Given the description of an element on the screen output the (x, y) to click on. 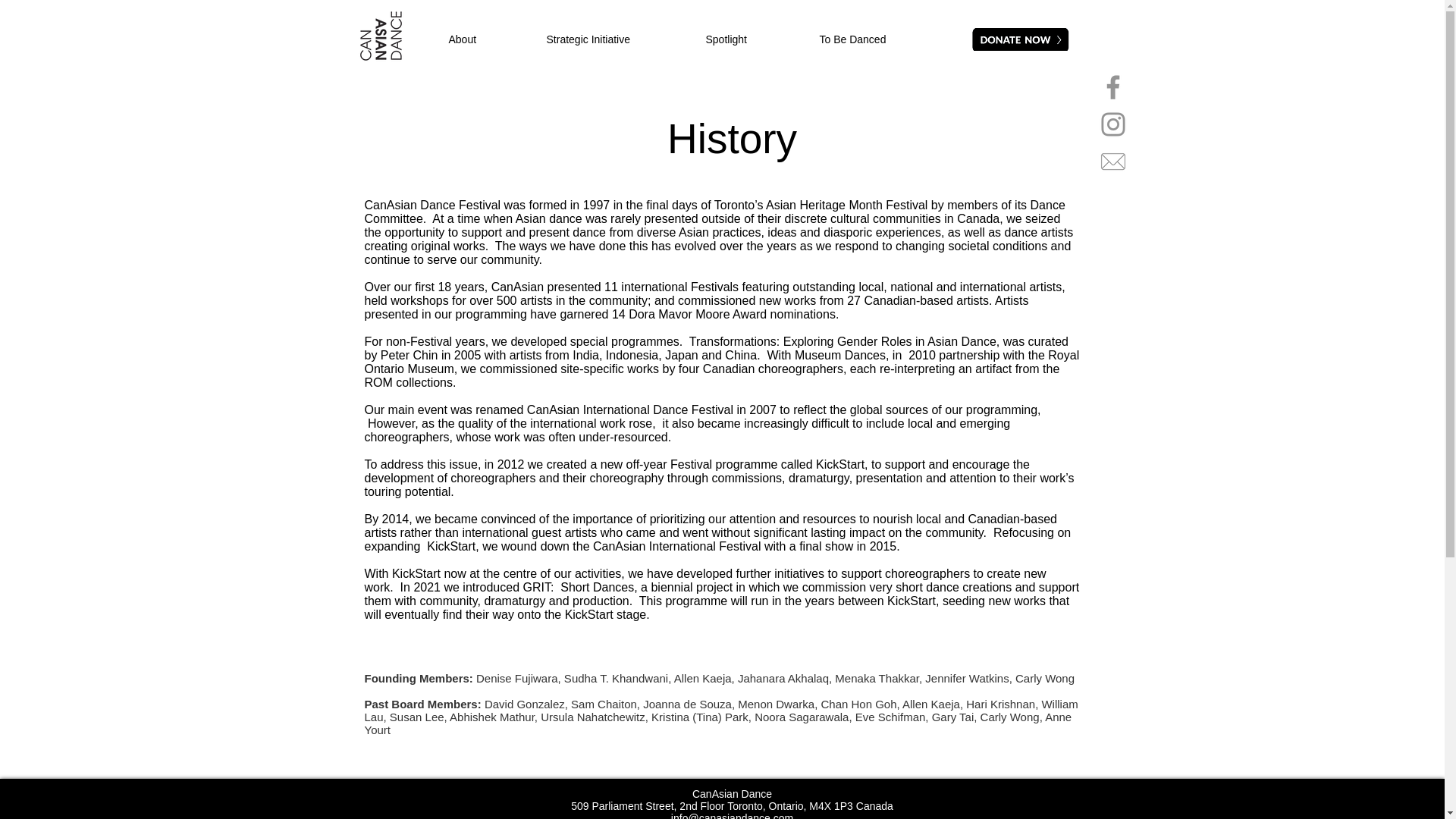
About (485, 39)
Strategic Initiative (614, 39)
To Be Danced (877, 39)
Spotlight (751, 39)
